Given the description of an element on the screen output the (x, y) to click on. 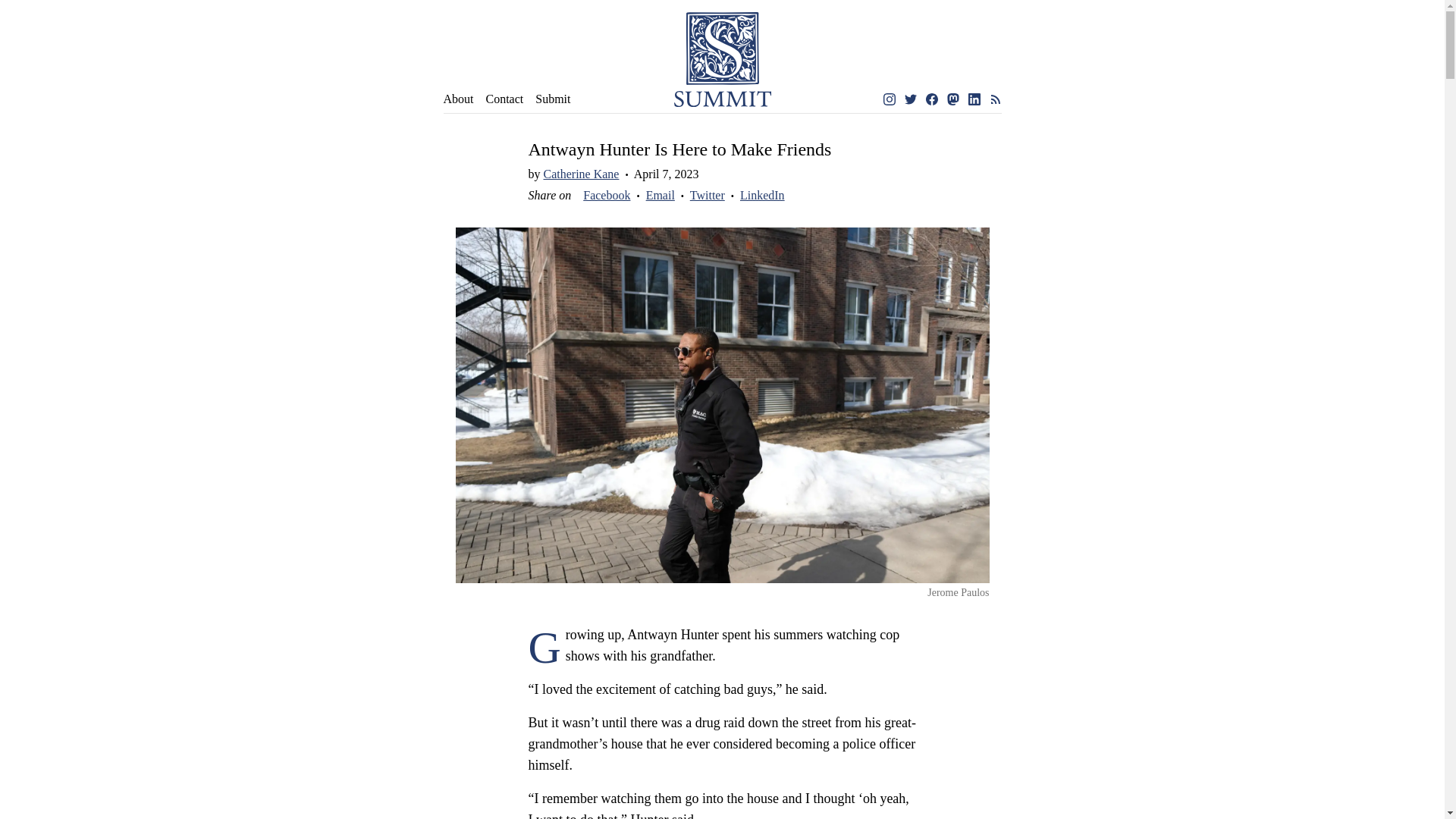
Facebook (930, 99)
Facebook (606, 195)
Catherine Kane (580, 173)
LinkedIn (761, 195)
Twitter (707, 195)
Twitter (909, 99)
Contact (503, 99)
Mastodon (952, 99)
About (457, 99)
Submit (552, 99)
